Given the description of an element on the screen output the (x, y) to click on. 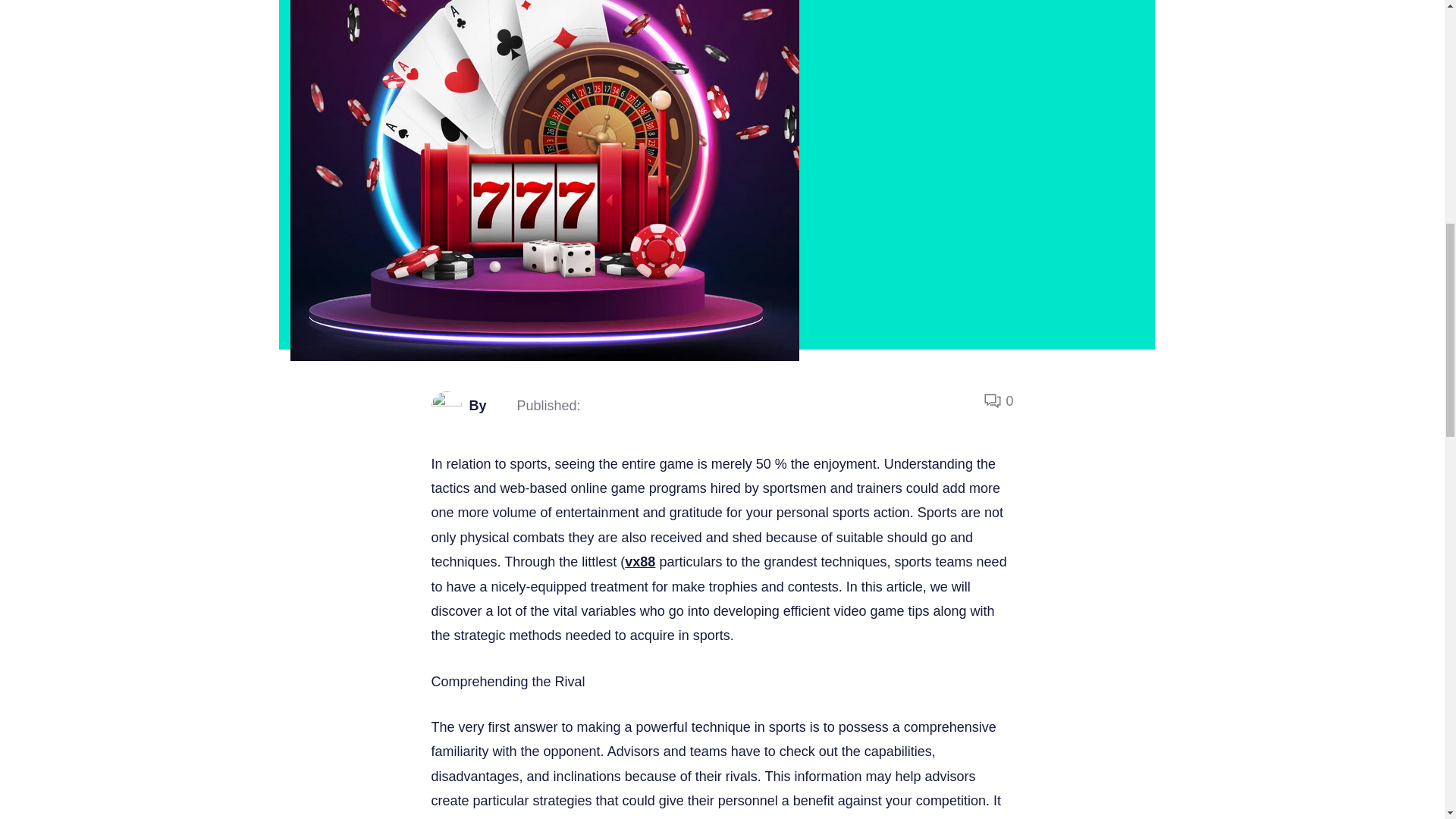
vx88 (639, 561)
